Given the description of an element on the screen output the (x, y) to click on. 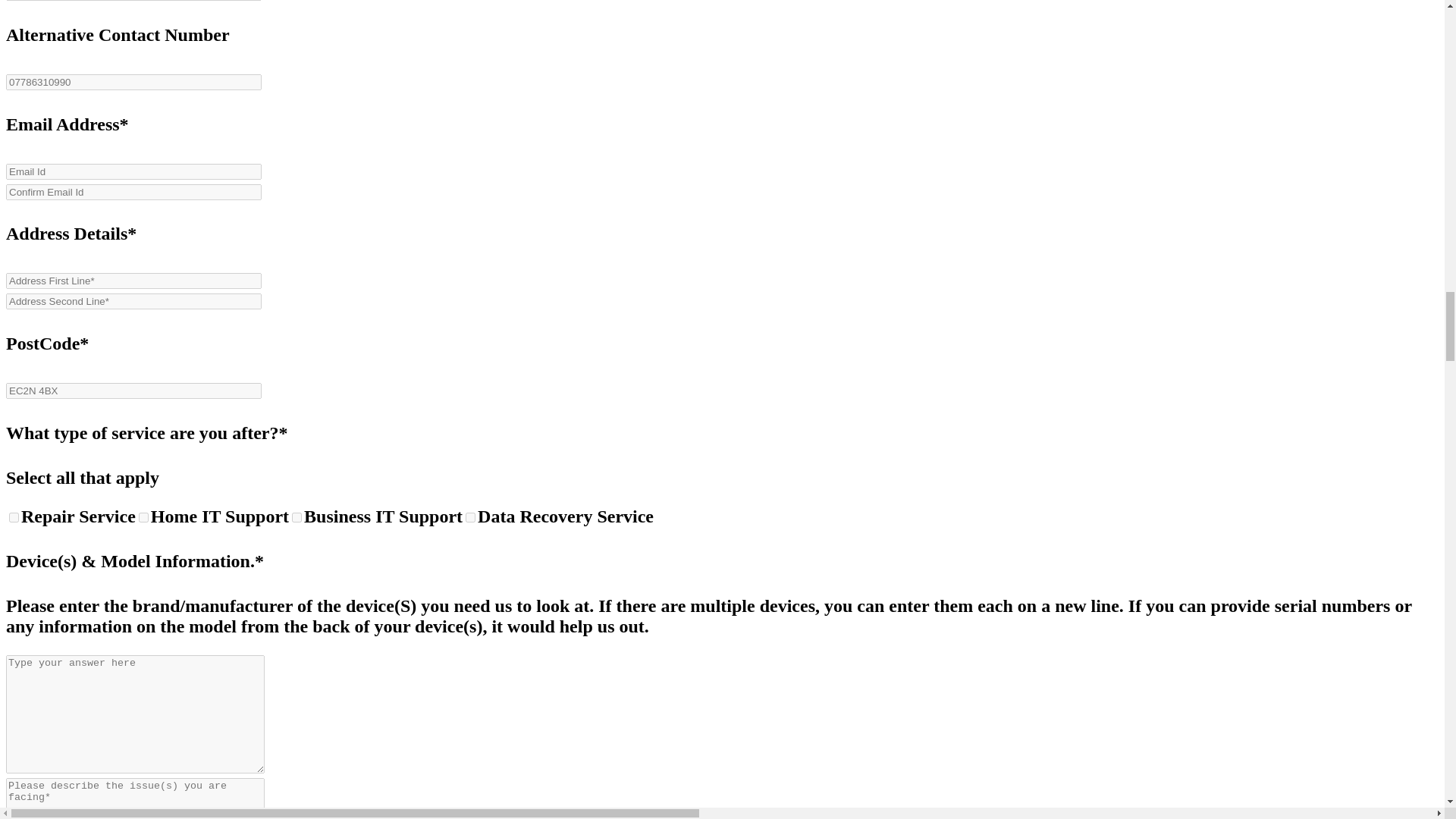
Repair Service (13, 517)
Data Recovery Service (470, 517)
Business IT Support (296, 517)
Home IT Support (143, 517)
